Given the description of an element on the screen output the (x, y) to click on. 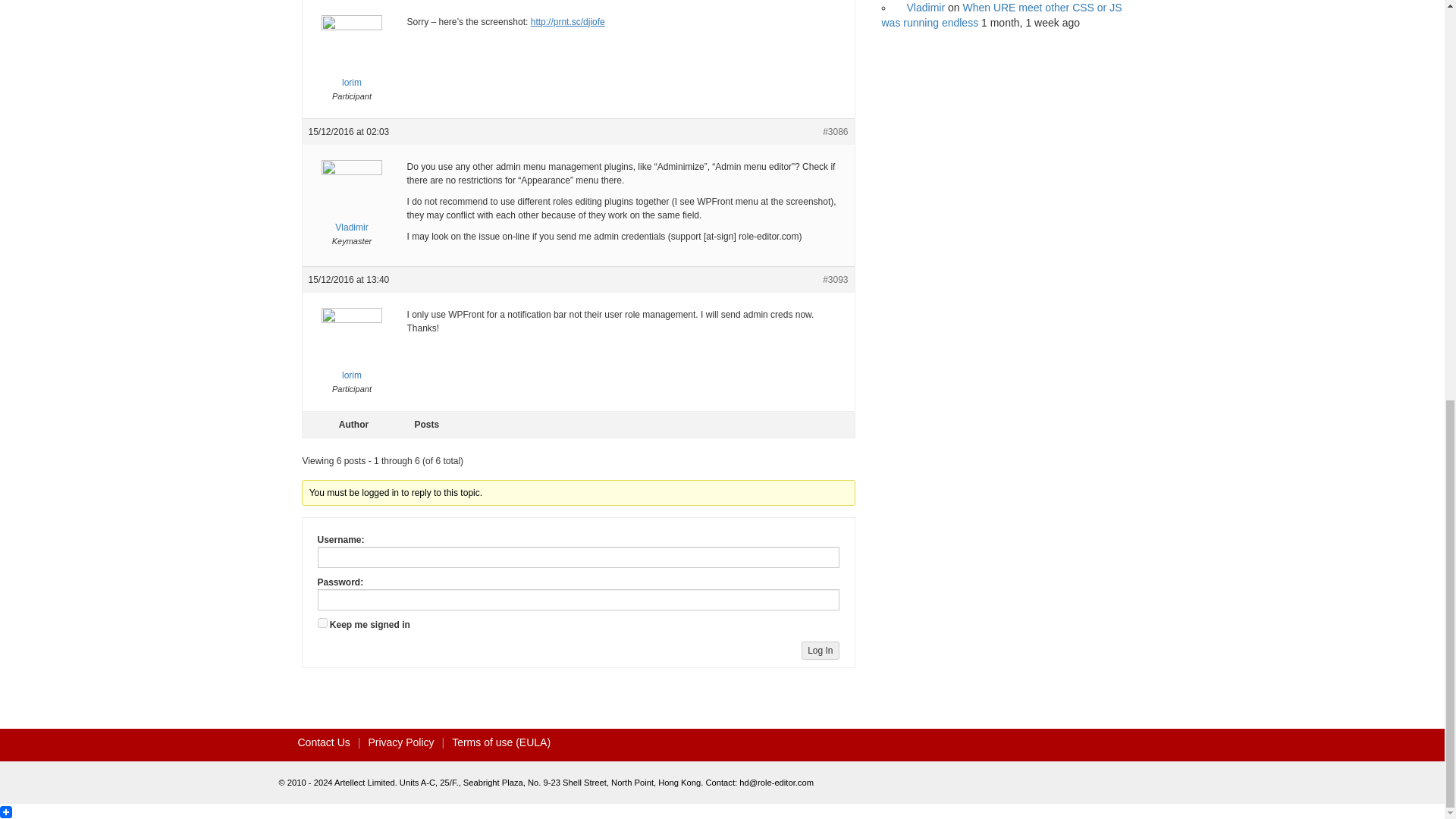
View Vladimir's profile (350, 206)
Log In (820, 650)
View lorim's profile (350, 354)
lorim (350, 354)
View lorim's profile (350, 62)
lorim (350, 62)
forever (321, 623)
Vladimir (350, 206)
